Given the description of an element on the screen output the (x, y) to click on. 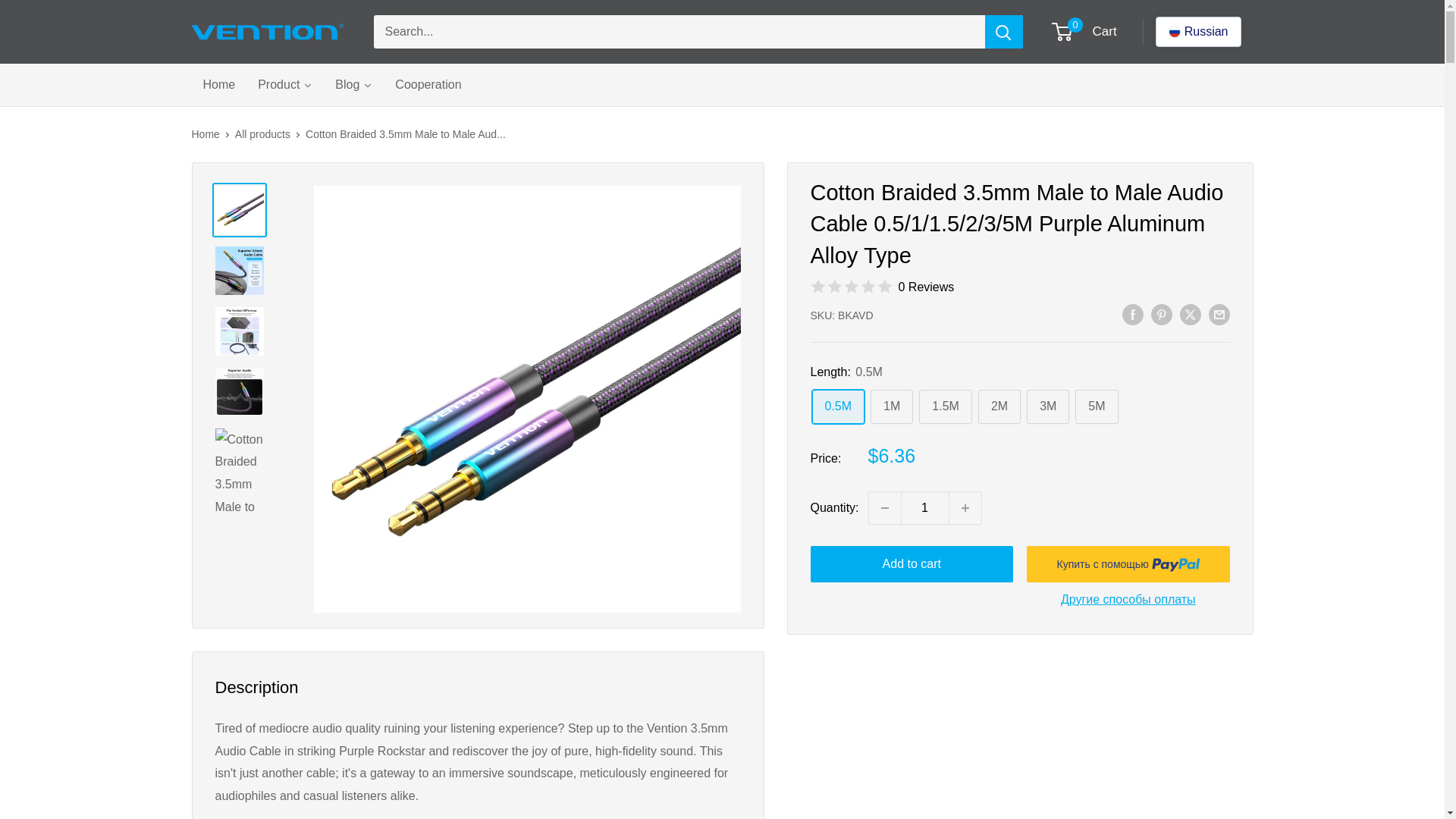
Blog (353, 84)
Home (218, 84)
1M (891, 406)
Cooperation (427, 84)
1.5M (945, 406)
0.5M (837, 406)
Product (284, 84)
1 (925, 508)
Decrease quantity by 1 (885, 508)
2M (999, 406)
3M (1047, 406)
5M (1096, 406)
Increase quantity by 1 (965, 508)
